Given the description of an element on the screen output the (x, y) to click on. 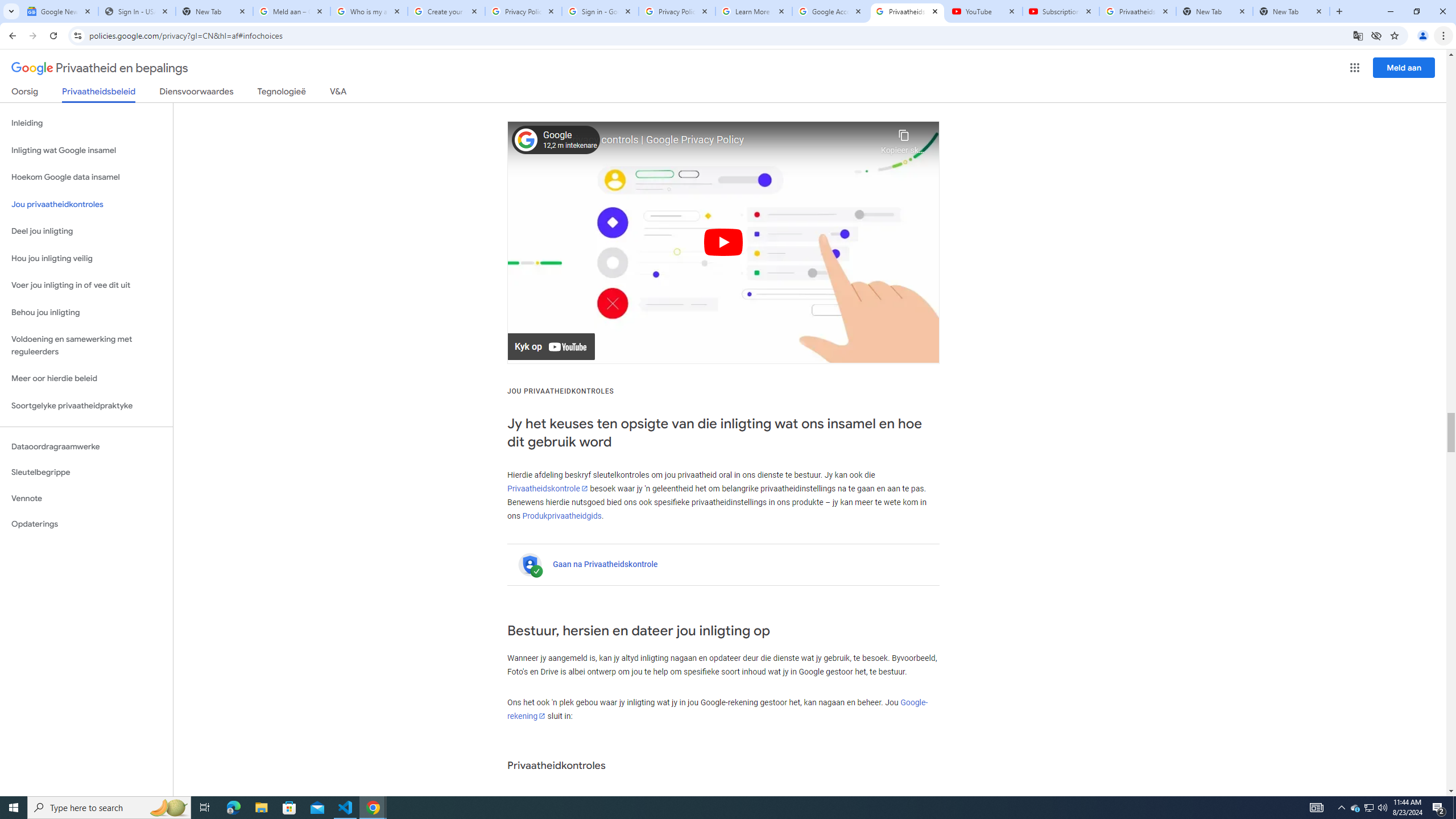
Opdaterings (86, 524)
Produkprivaatheidgids (561, 515)
Voldoening en samewerking met reguleerders (86, 345)
Sign in - Google Accounts (599, 11)
Privaatheidsbeleid (98, 94)
Inleiding (86, 122)
Hoekom Google data insamel (86, 176)
